Given the description of an element on the screen output the (x, y) to click on. 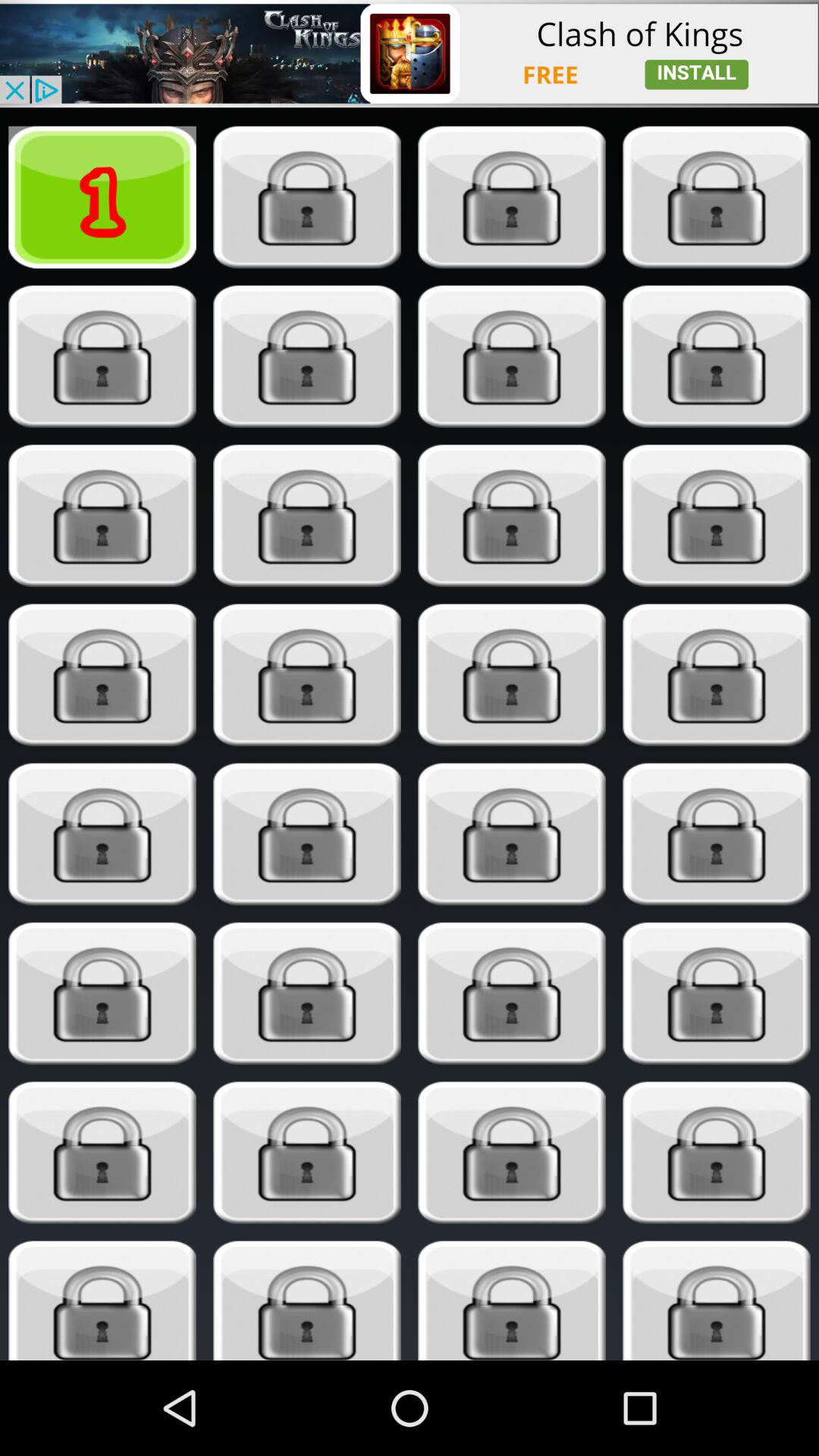
button image (511, 1300)
